Given the description of an element on the screen output the (x, y) to click on. 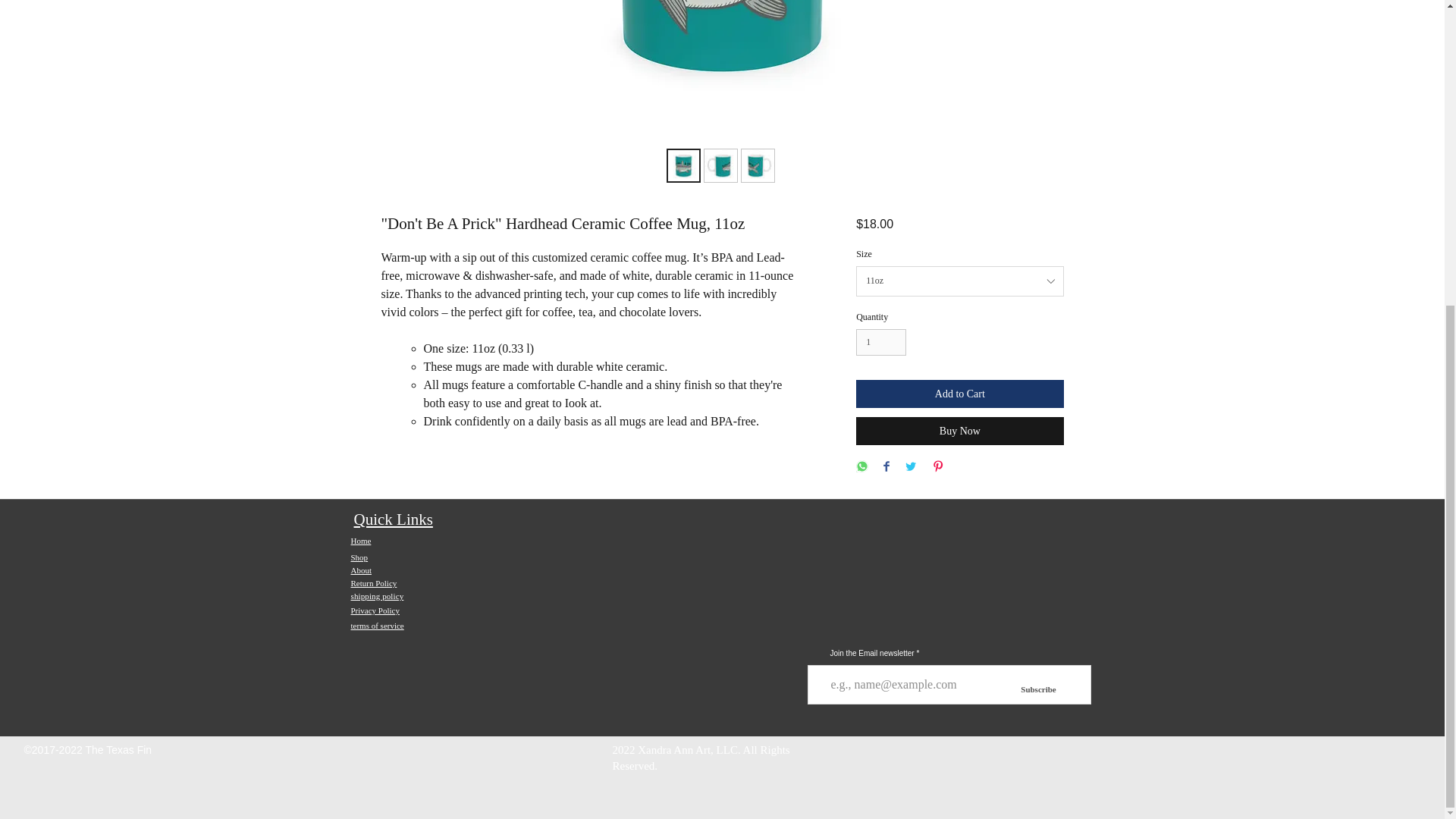
Home (360, 540)
Buy Now (959, 430)
shipping policy (376, 595)
1 (880, 342)
Shop (359, 556)
11oz (959, 281)
Return Policy (373, 583)
terms of service (376, 624)
Add to Cart (959, 393)
About (360, 569)
